Given the description of an element on the screen output the (x, y) to click on. 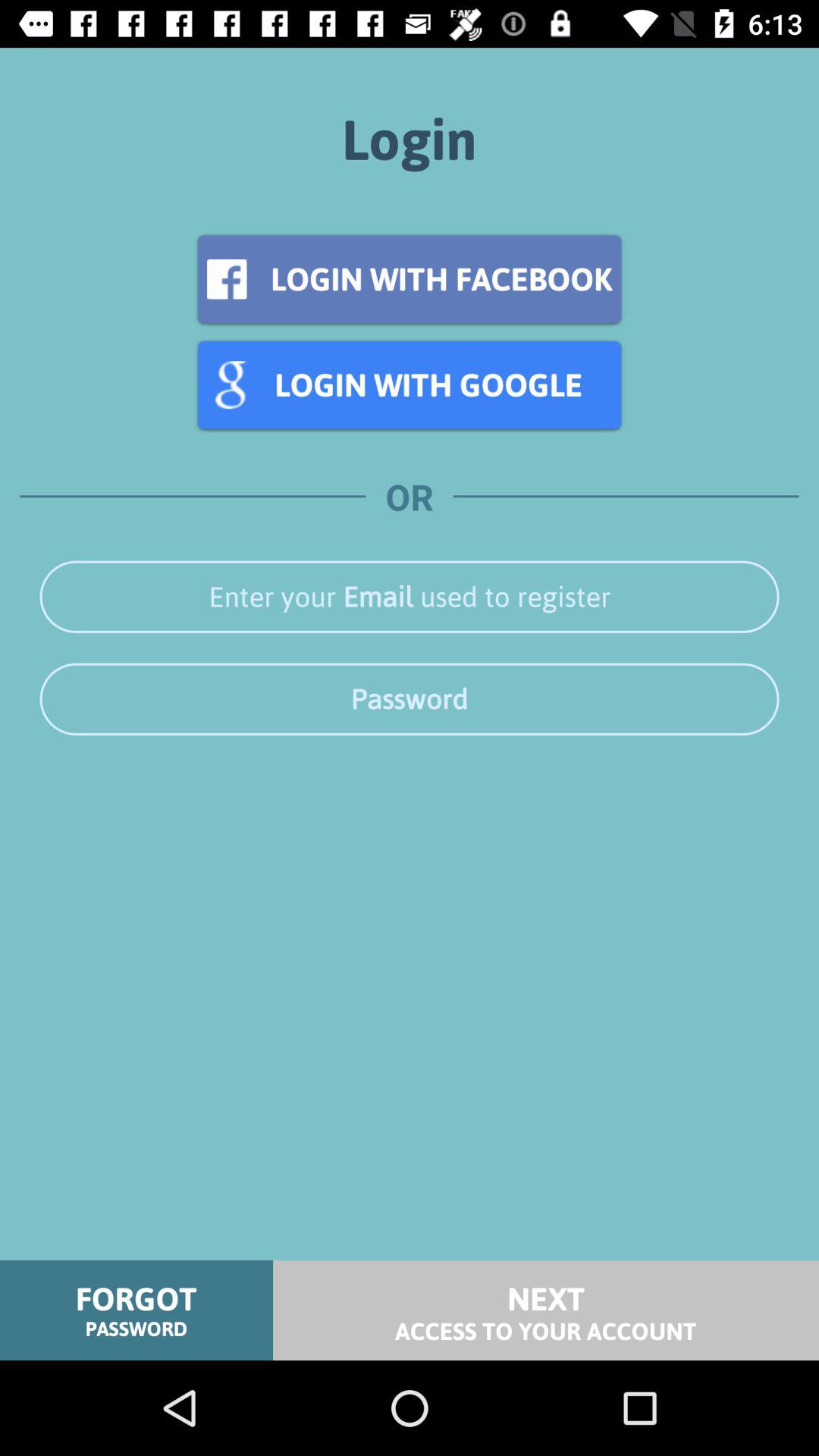
he can activate the simple voice command (409, 699)
